Given the description of an element on the screen output the (x, y) to click on. 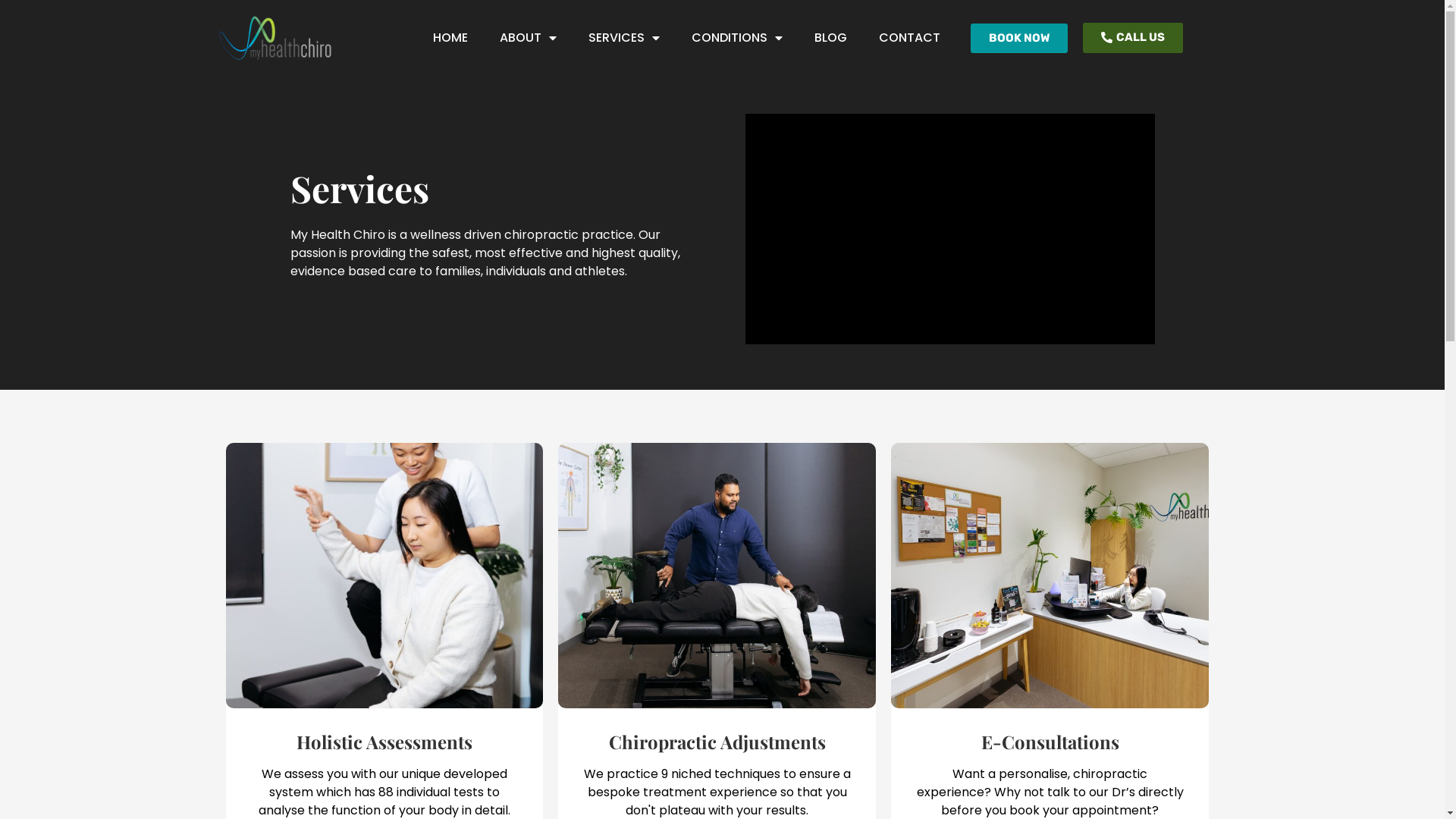
CONDITIONS Element type: text (736, 37)
CALL US Element type: text (1132, 37)
BLOG Element type: text (830, 37)
ABOUT Element type: text (527, 37)
HOME Element type: text (450, 37)
SERVICES Element type: text (623, 37)
CONTACT Element type: text (909, 37)
Chiropractic Adjustments Element type: text (716, 741)
Holistic Assessments Element type: text (384, 741)
E-Consultations Element type: text (1050, 741)
BOOK NOW Element type: text (1018, 38)
